Given the description of an element on the screen output the (x, y) to click on. 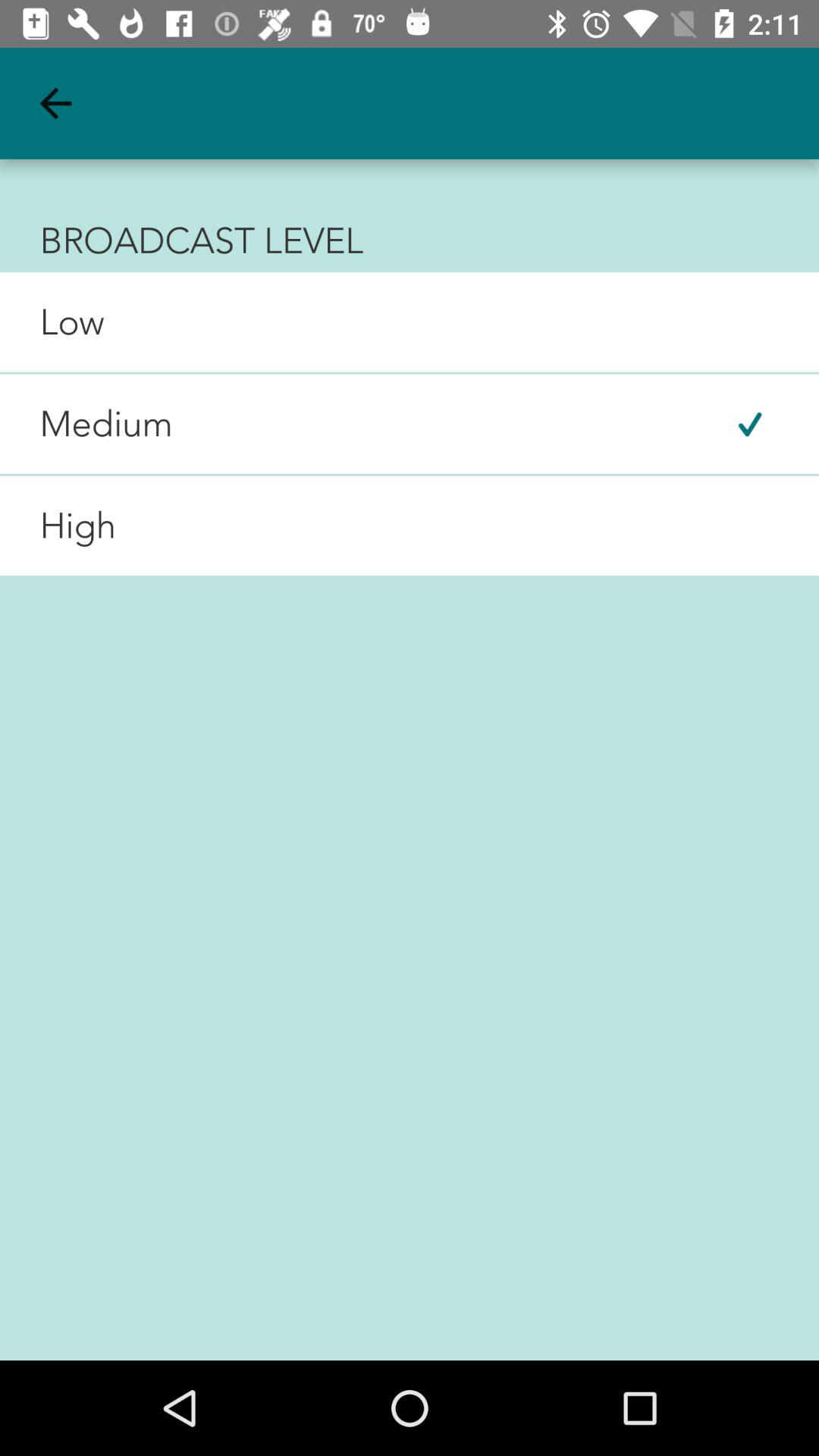
click item at the top right corner (749, 423)
